Given the description of an element on the screen output the (x, y) to click on. 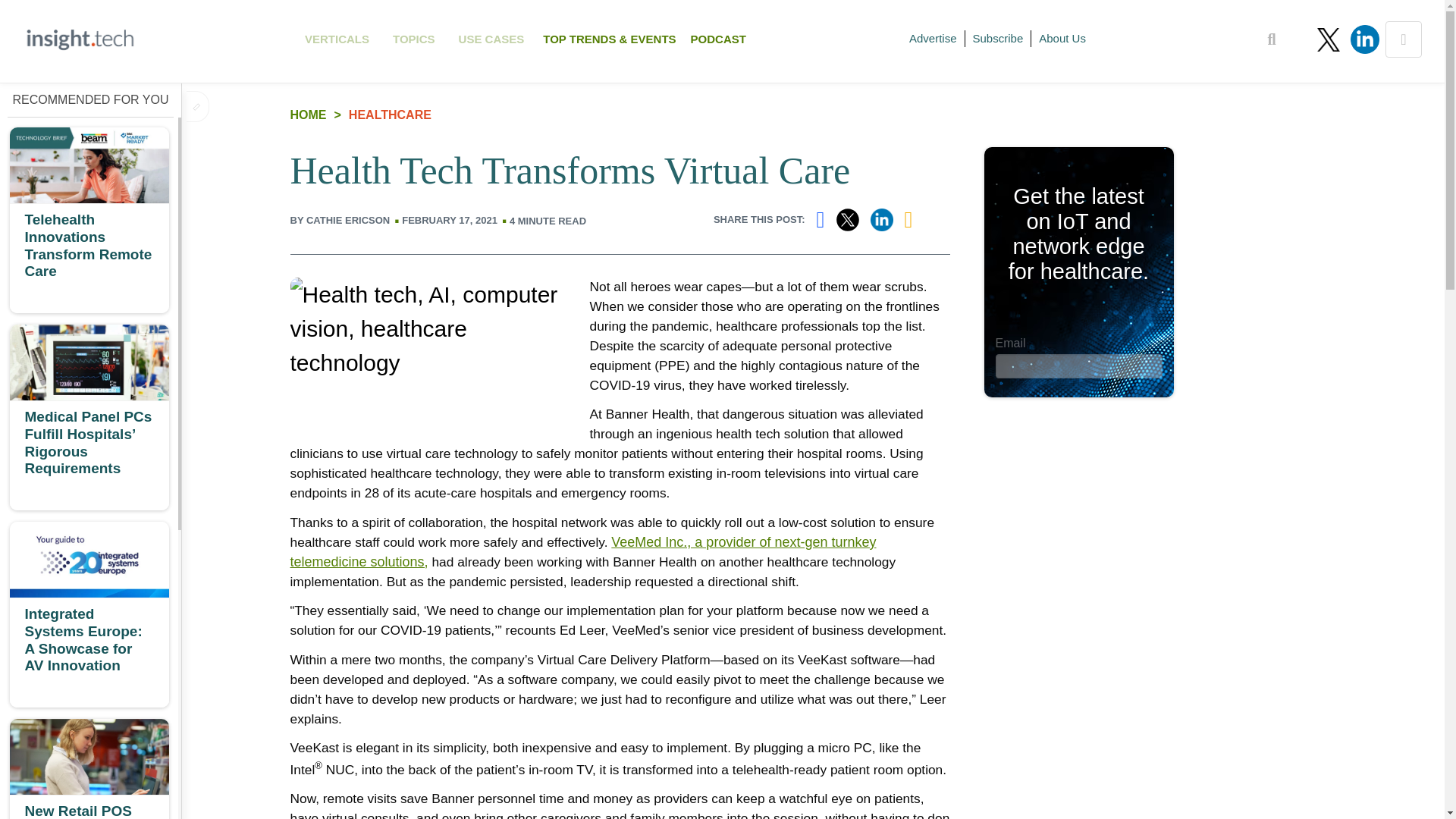
VeeMed Inc. (336, 39)
Advertise (582, 551)
Share on twitter (932, 38)
Share on email (847, 227)
PODCAST (915, 219)
About Us (718, 39)
Share on linkedin (414, 39)
Subscribe (1061, 38)
Open Search Box (881, 227)
Author (491, 39)
Open Locale Selector Menu (997, 38)
Published Date (1271, 39)
